Given the description of an element on the screen output the (x, y) to click on. 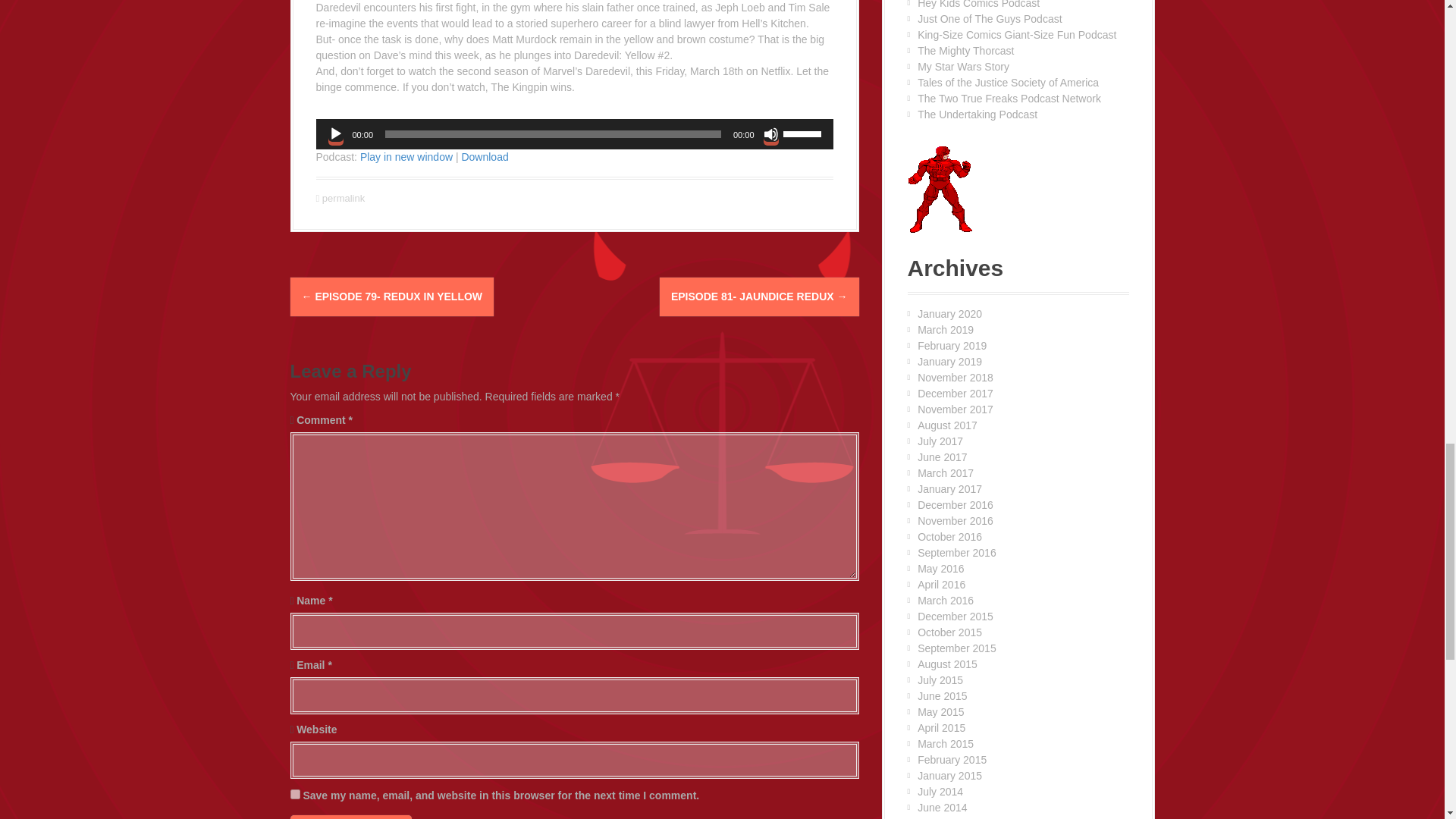
Tales of the Justice Society of America (1008, 82)
The Mighty Thorcast (965, 50)
Mute (769, 133)
permalink (341, 197)
Hey Kids Comics Podcast (978, 4)
Play (334, 133)
Post Comment (350, 816)
King-Size Comics Giant-Size Fun Podcast (1016, 34)
My Star Wars Story (963, 66)
The Two True Freaks Podcast Network (1008, 98)
Download (484, 156)
Download (484, 156)
yes (294, 794)
Play in new window (405, 156)
Play in new window (405, 156)
